Given the description of an element on the screen output the (x, y) to click on. 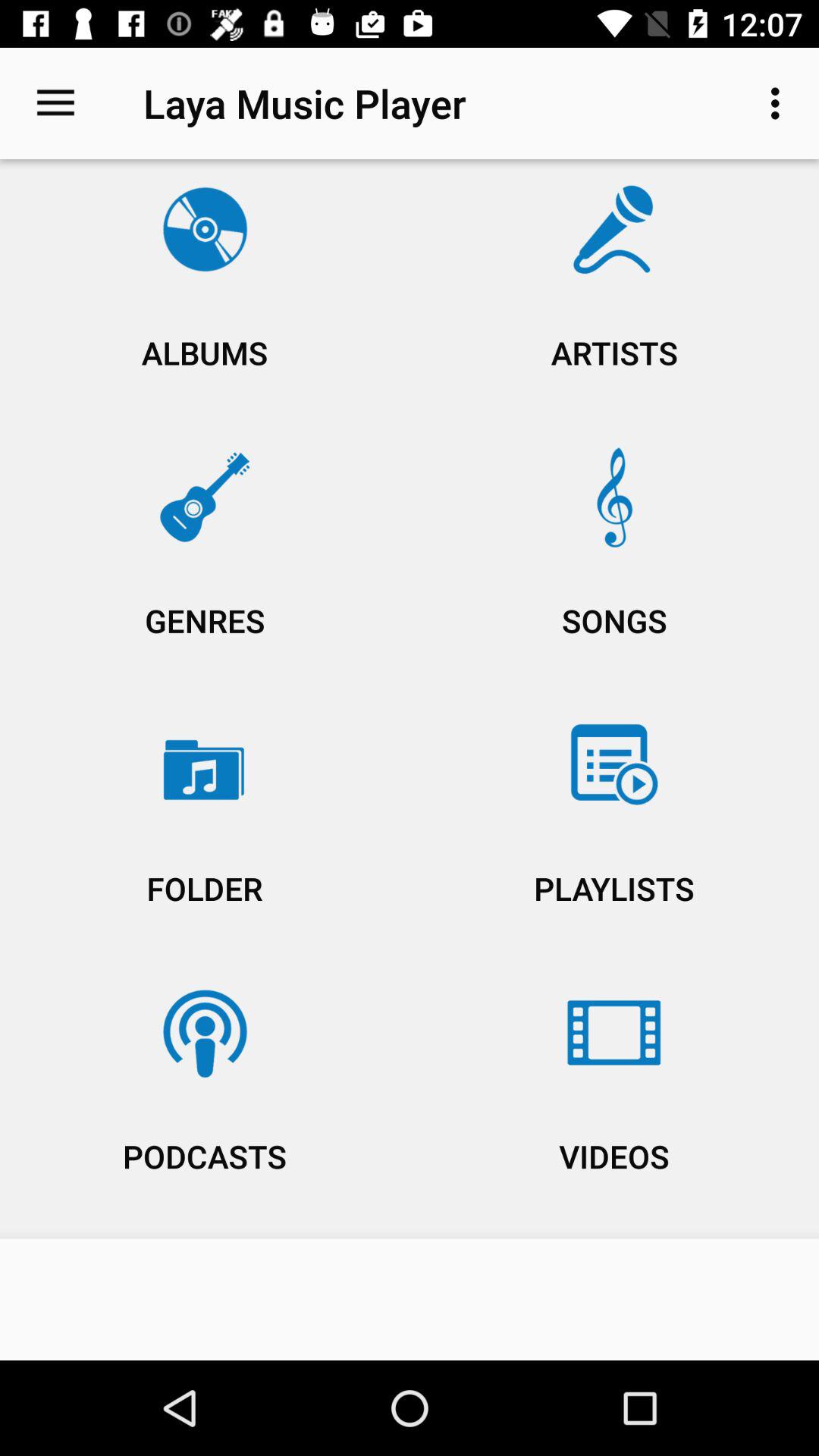
flip to the songs item (614, 565)
